Given the description of an element on the screen output the (x, y) to click on. 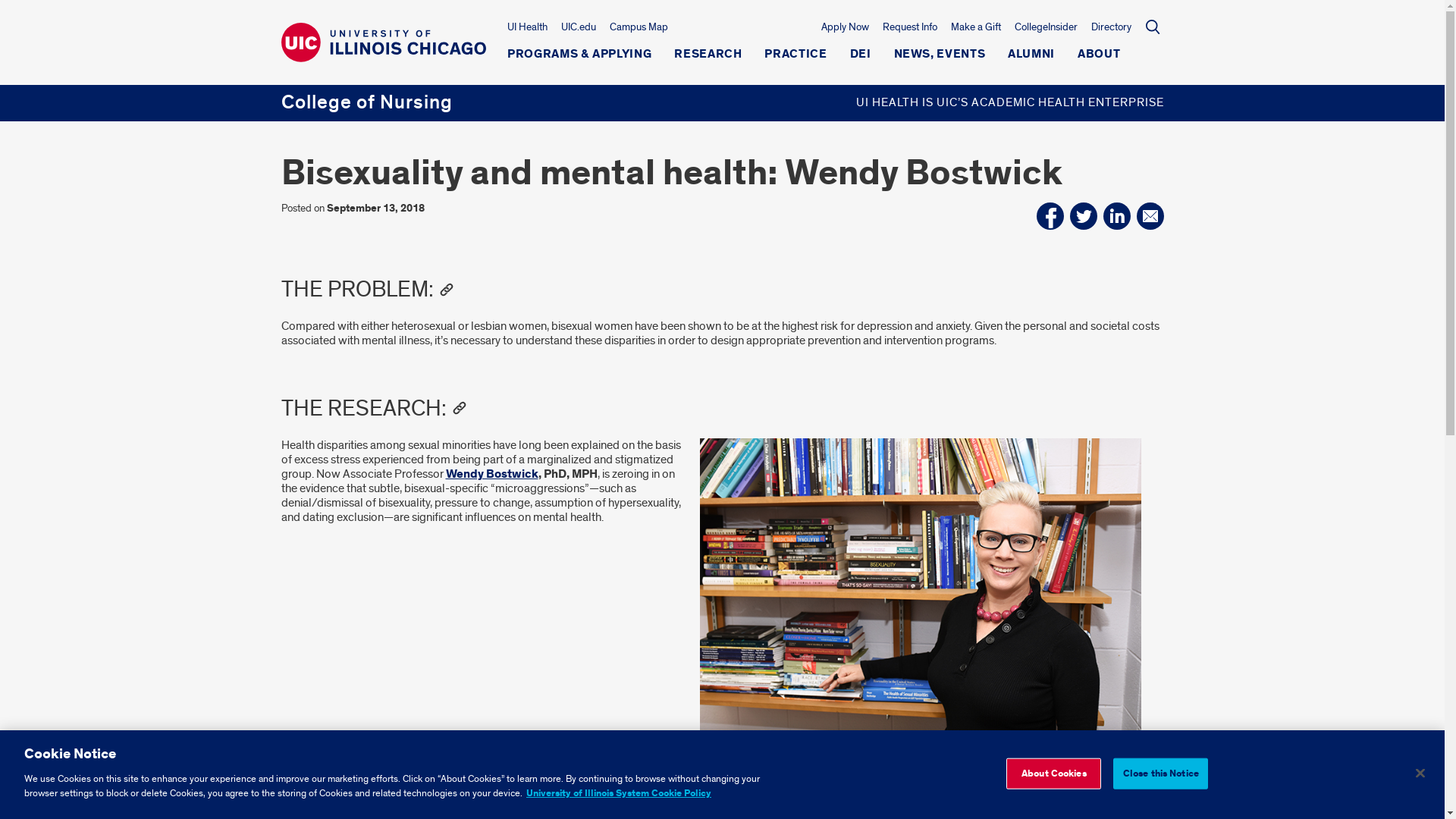
NEWS, EVENTS (939, 57)
Share this on Linked In (1115, 216)
University of Illinois Chicago (382, 42)
DEI (860, 57)
RESEARCH (707, 57)
Share this on Twitter (1082, 216)
Share this via email (1149, 216)
Share this on Facebook (1048, 216)
PRACTICE (795, 57)
University of Illinois Chicago (382, 54)
